Given the description of an element on the screen output the (x, y) to click on. 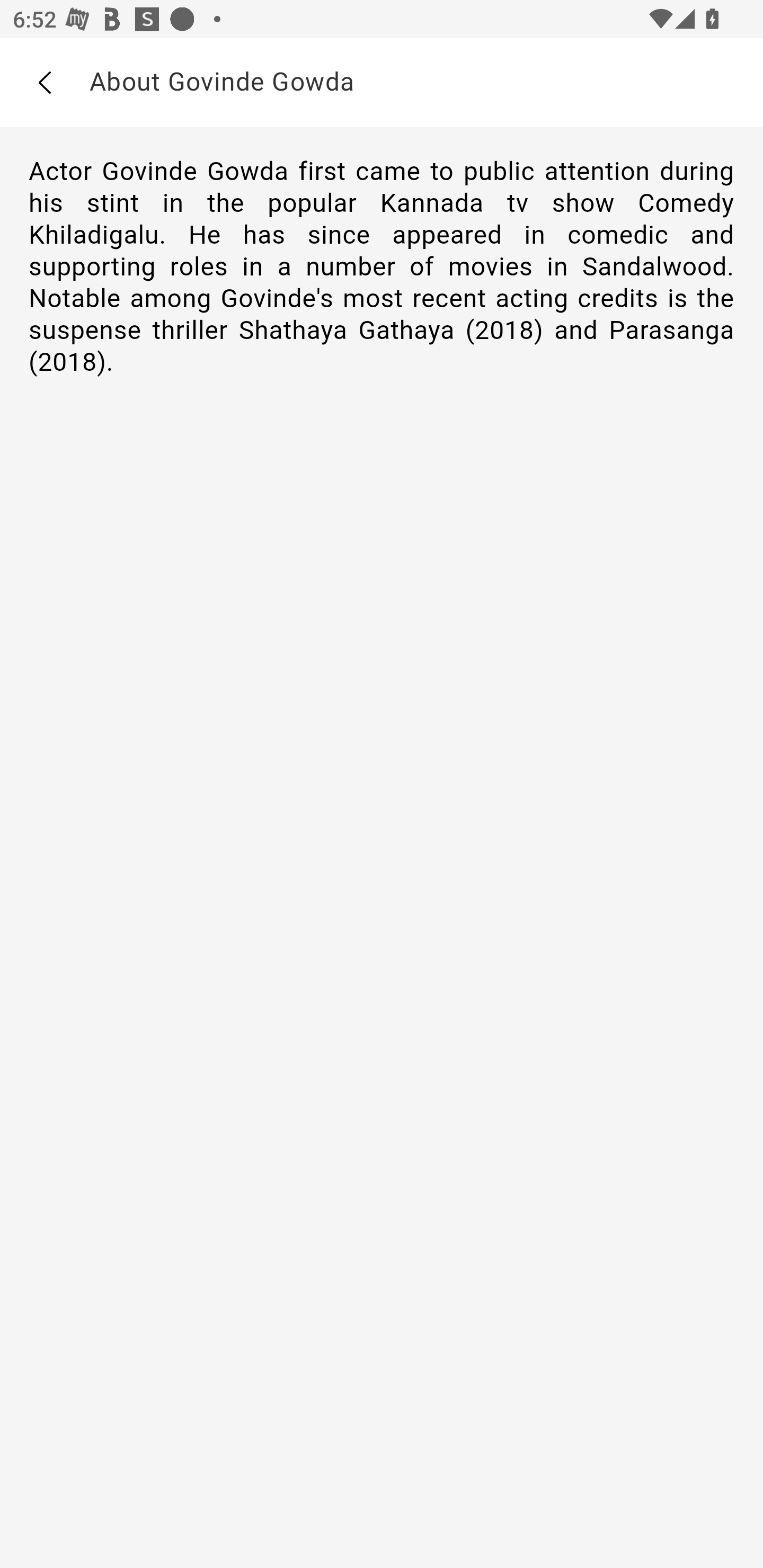
Back (44, 82)
